Given the description of an element on the screen output the (x, y) to click on. 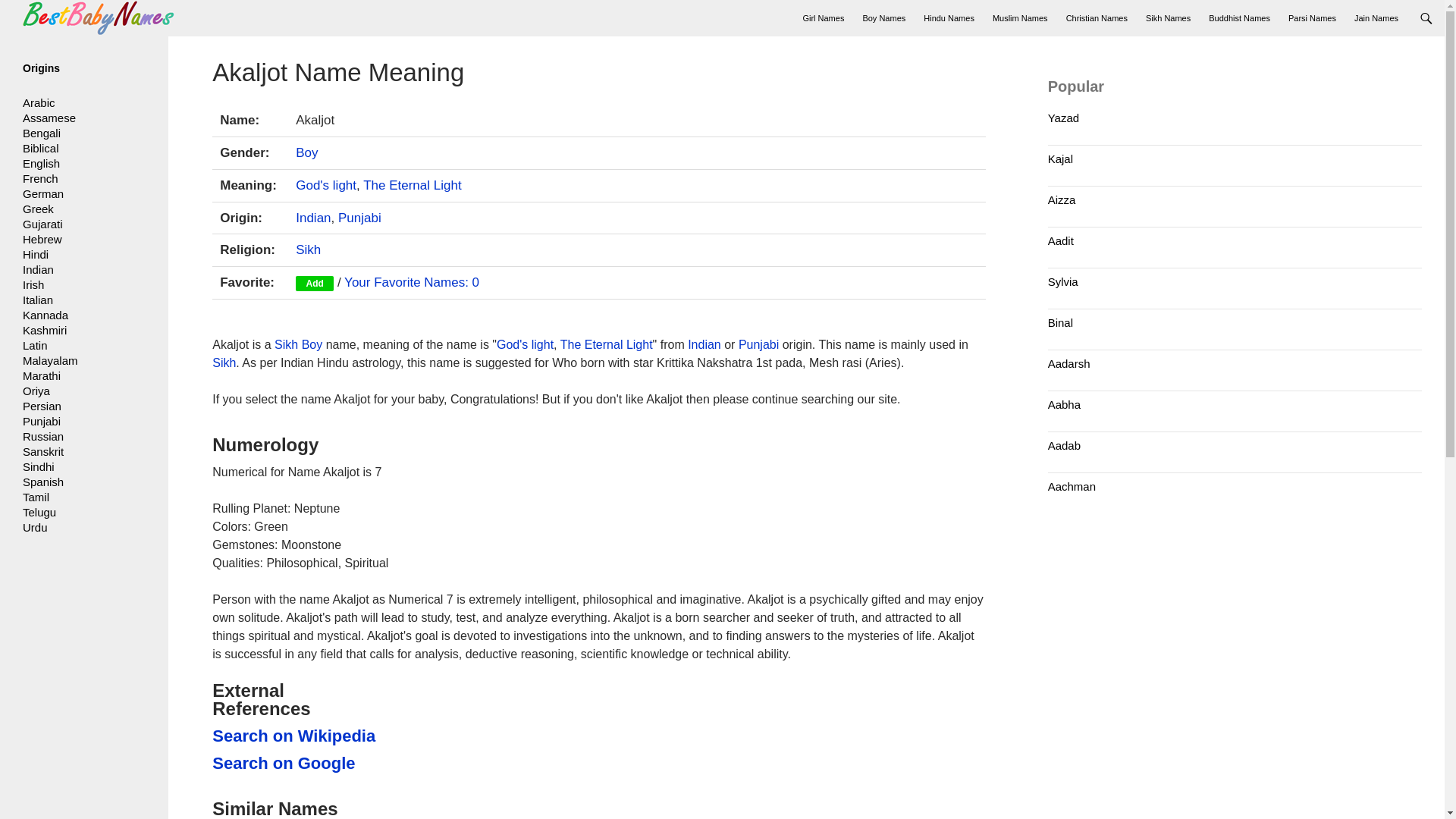
God's light (524, 344)
Sikh Names (1168, 18)
Indian (312, 217)
Boy Names (883, 18)
Aadarsh (1069, 363)
The Eternal Light (606, 344)
Sikh (223, 362)
Sikh (307, 249)
Aadit (1061, 240)
Aizza (1061, 199)
Parsi Names (1312, 18)
Kajal (1060, 158)
Girl Names (823, 18)
Binal (1060, 322)
Boy (312, 344)
